Given the description of an element on the screen output the (x, y) to click on. 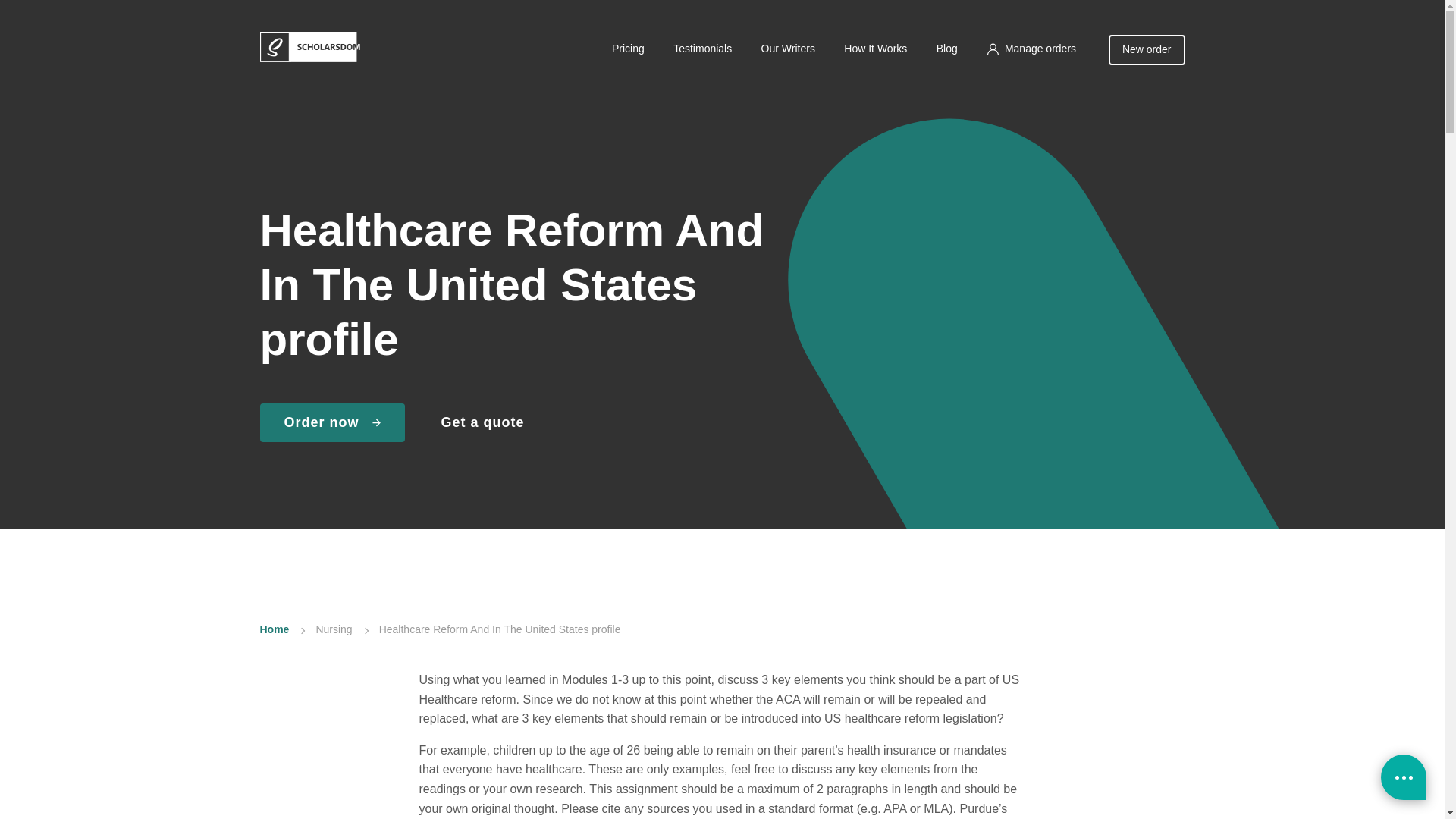
Our Writers (786, 48)
Manage orders (1031, 49)
Get a quote (482, 423)
Order now (331, 423)
How It Works (875, 48)
Testimonials (702, 48)
Home (273, 629)
Blog (946, 48)
New order (1146, 50)
Pricing (628, 48)
